Given the description of an element on the screen output the (x, y) to click on. 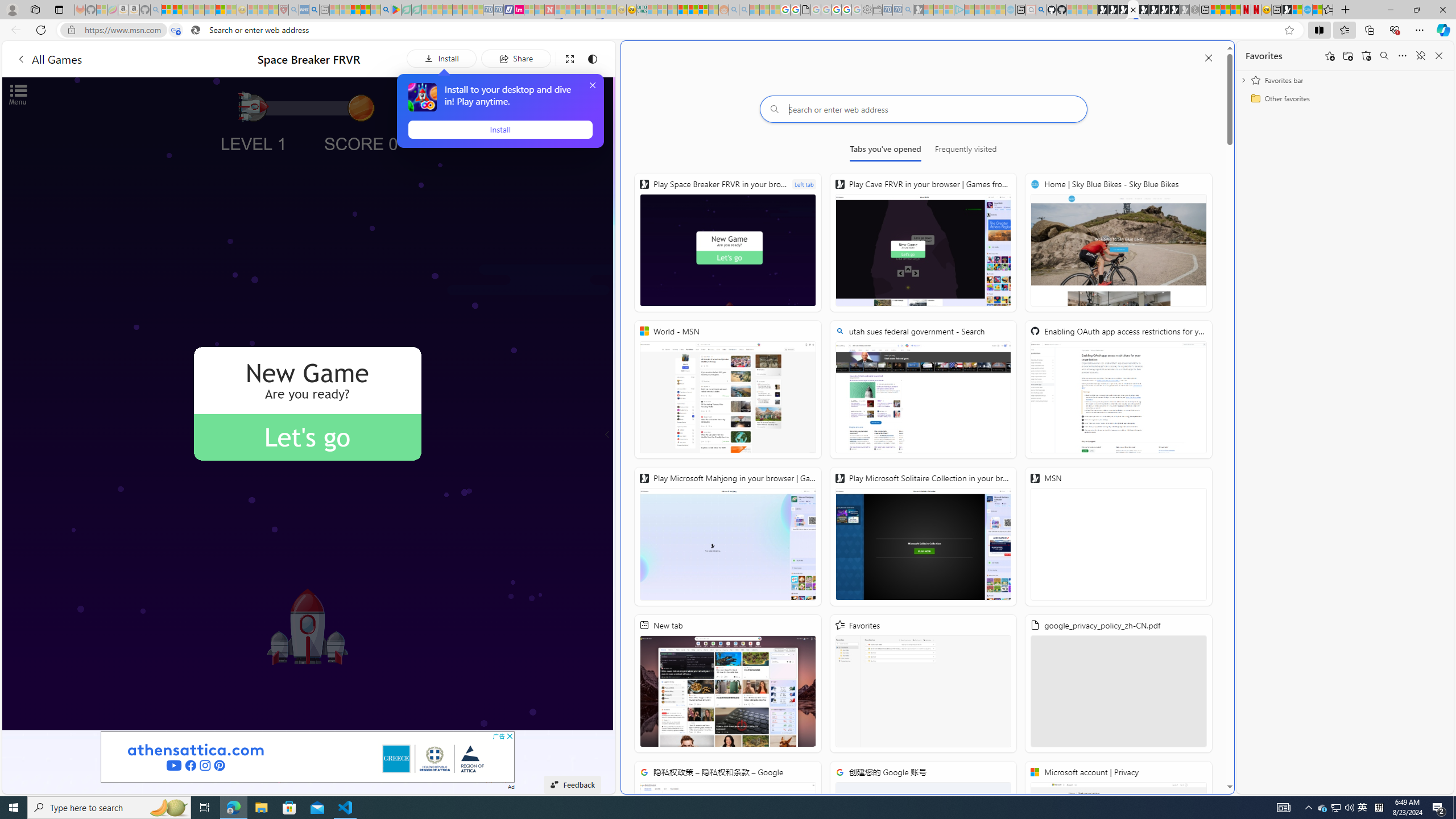
Class: control (606, 434)
World - MSN (727, 389)
google_privacy_policy_zh-CN.pdf (1118, 683)
Microsoft Start Gaming - Sleeping (918, 9)
Utah sues federal government - Search - Sleeping (743, 9)
MSNBC - MSN - Sleeping (652, 9)
